Given the description of an element on the screen output the (x, y) to click on. 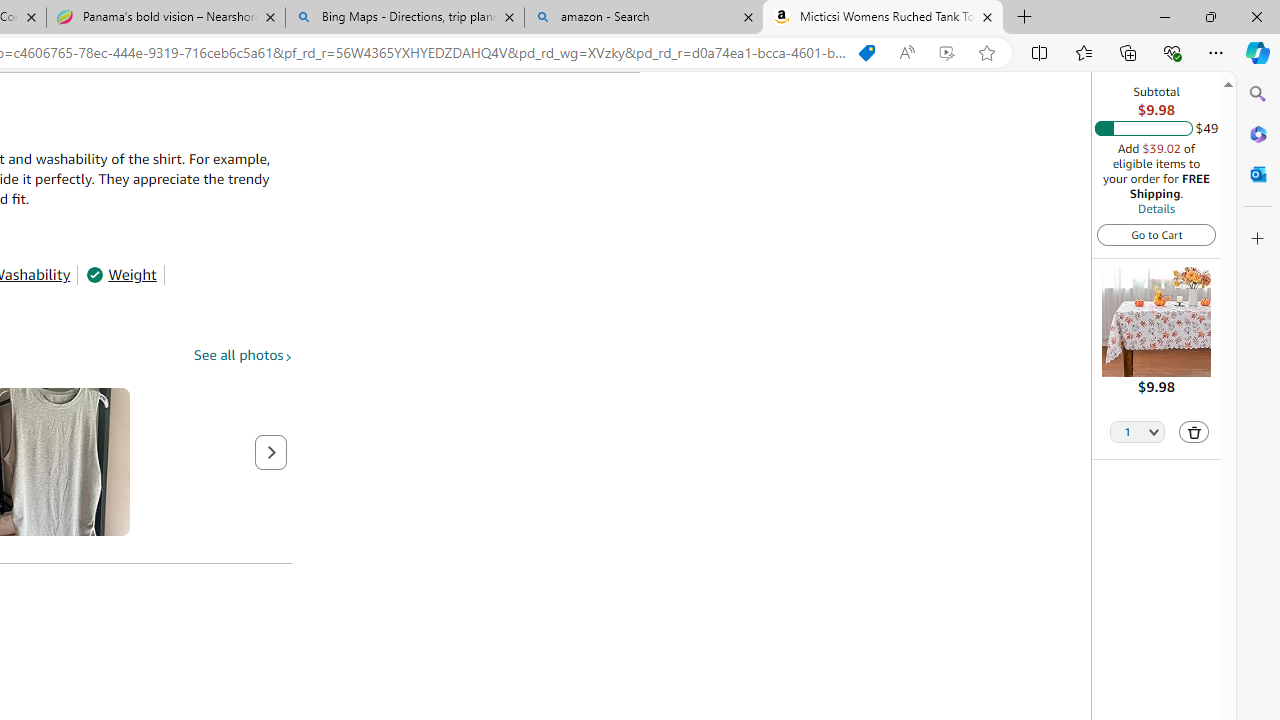
amazon - Search (643, 17)
Weight (121, 274)
Outlook (1258, 174)
Customize (1258, 239)
Microsoft 365 (1258, 133)
